Given the description of an element on the screen output the (x, y) to click on. 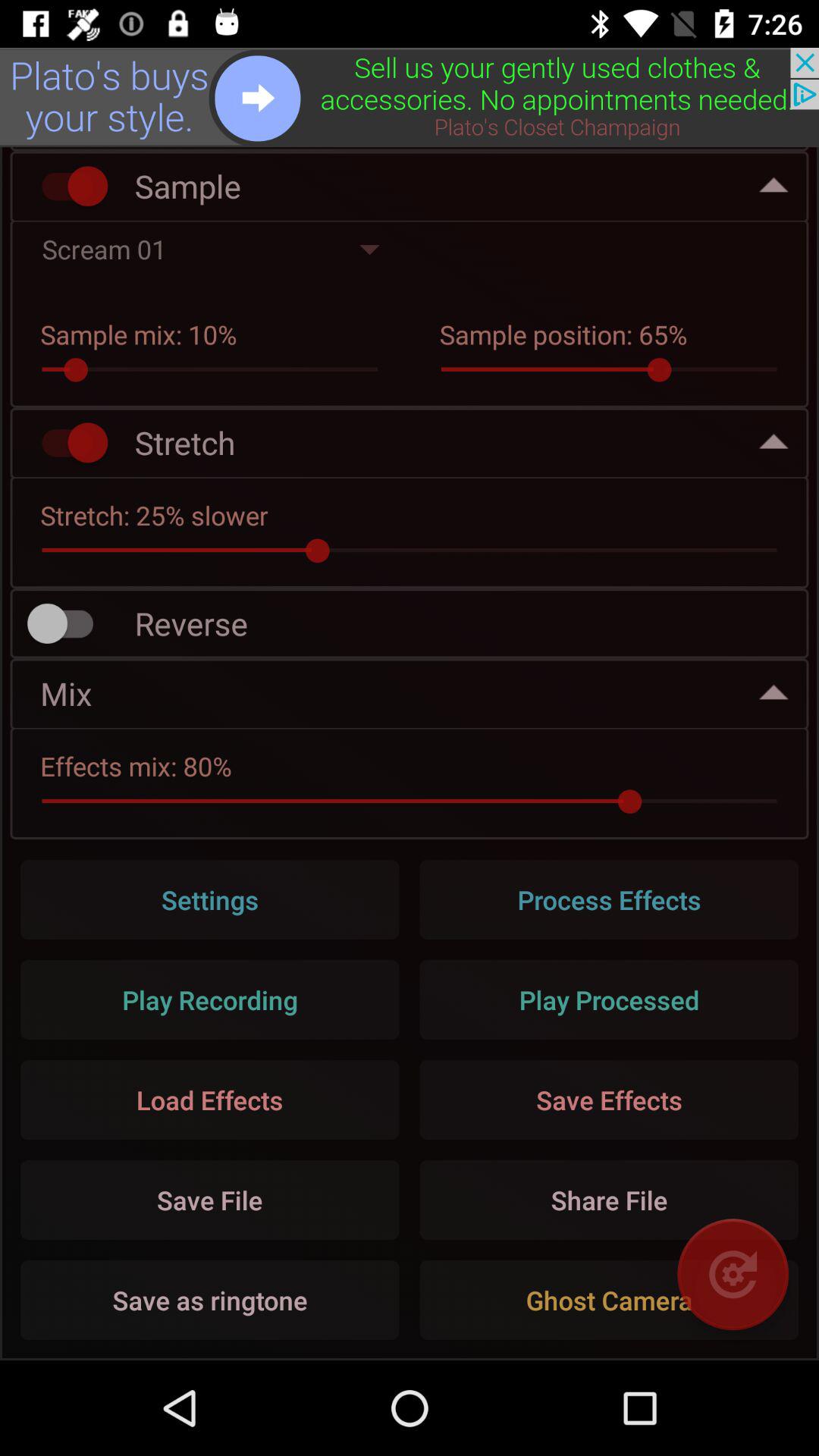
refresh page (732, 1274)
